Given the description of an element on the screen output the (x, y) to click on. 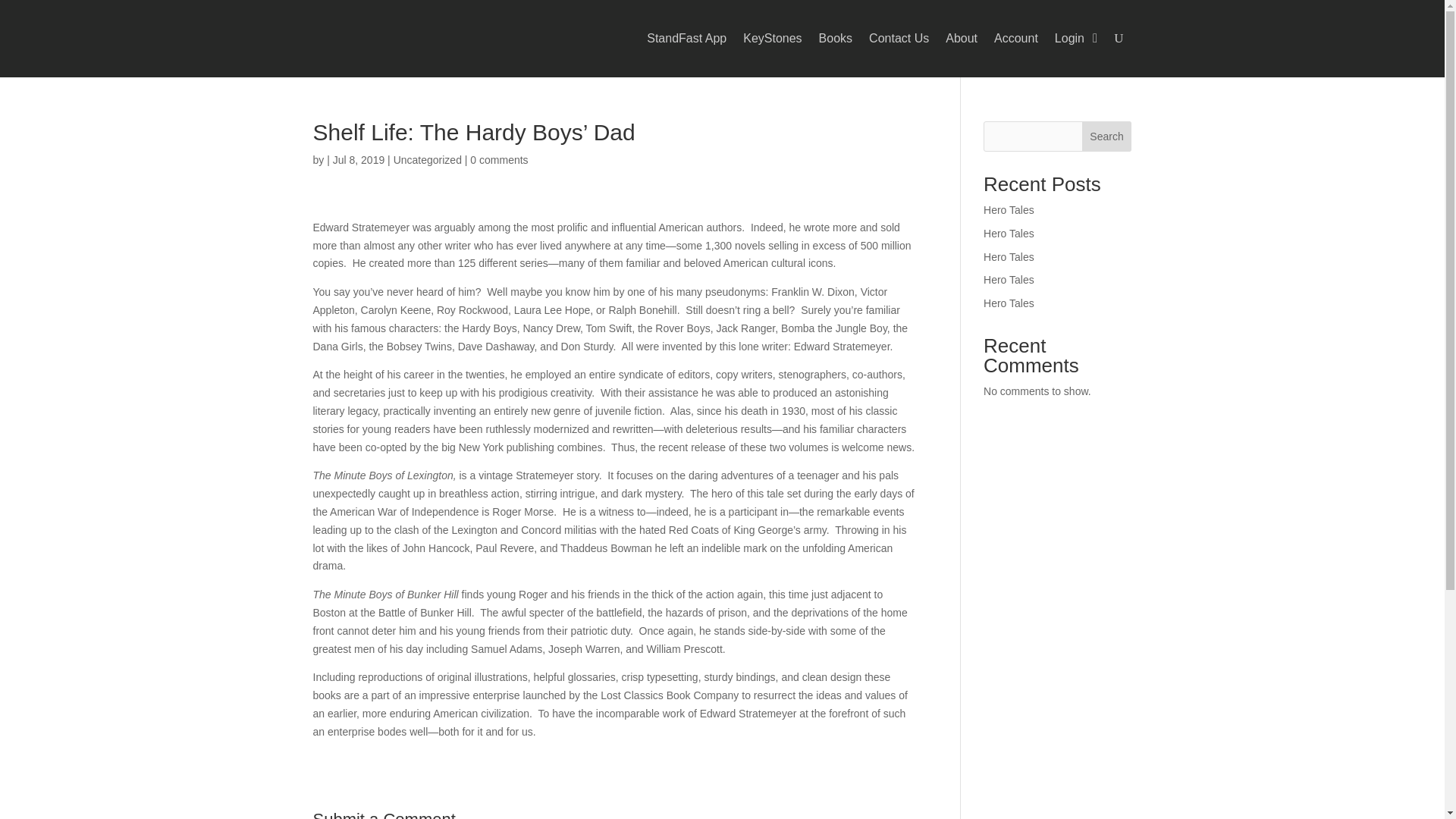
Search (1106, 136)
Uncategorized (427, 159)
Hero Tales (1008, 279)
Contact Us (898, 38)
StandFast App (686, 38)
Hero Tales (1008, 303)
Hero Tales (1008, 209)
KeyStones (772, 38)
Hero Tales (1008, 256)
Hero Tales (1008, 233)
